Given the description of an element on the screen output the (x, y) to click on. 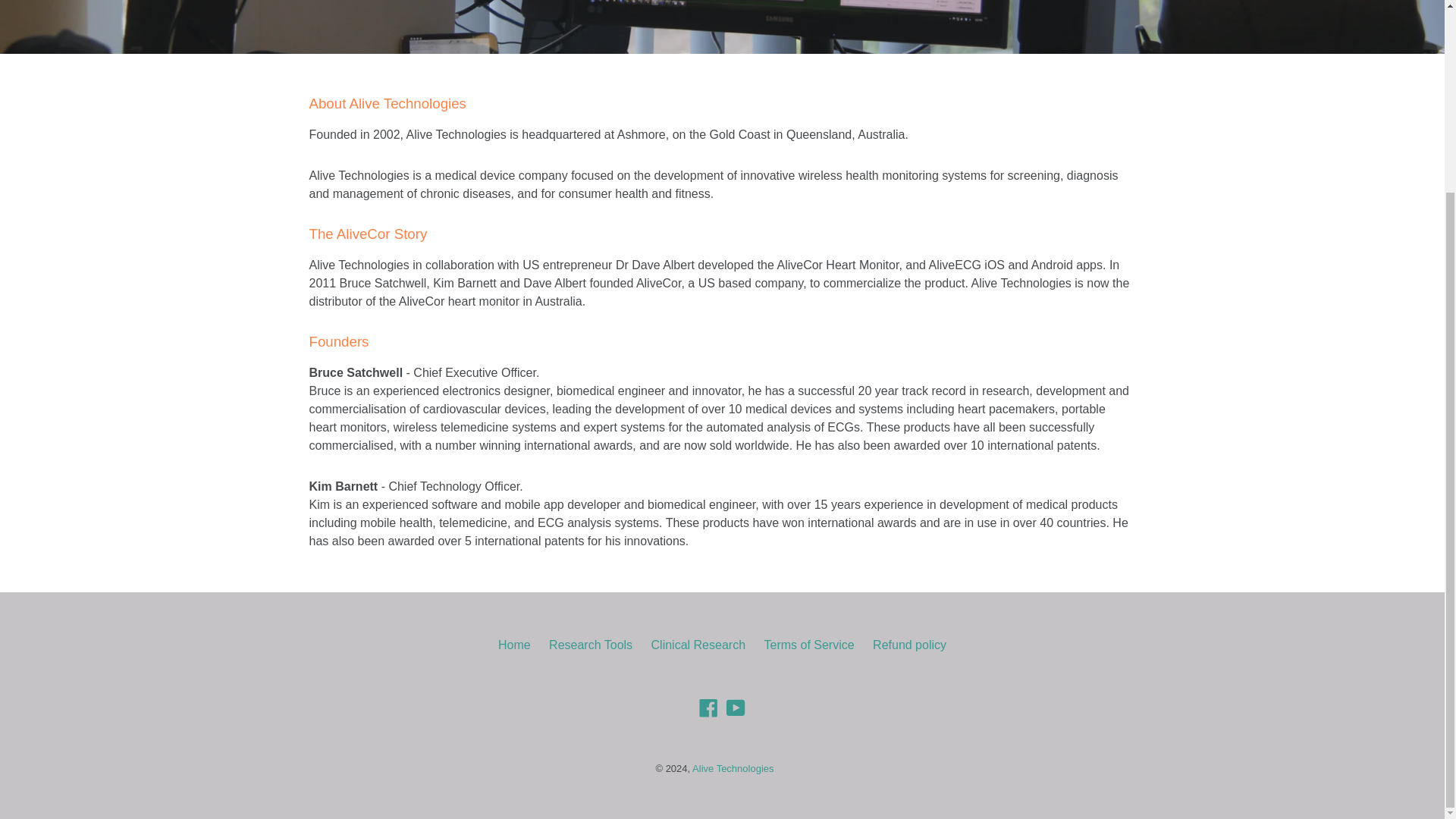
Alive Technologies on Facebook (708, 707)
Research Tools (589, 644)
YouTube (735, 707)
Terms of Service (807, 644)
Alive Technologies on YouTube (735, 707)
Facebook (708, 707)
Refund policy (909, 644)
Alive Technologies (733, 767)
Clinical Research (697, 644)
Home (514, 644)
